Given the description of an element on the screen output the (x, y) to click on. 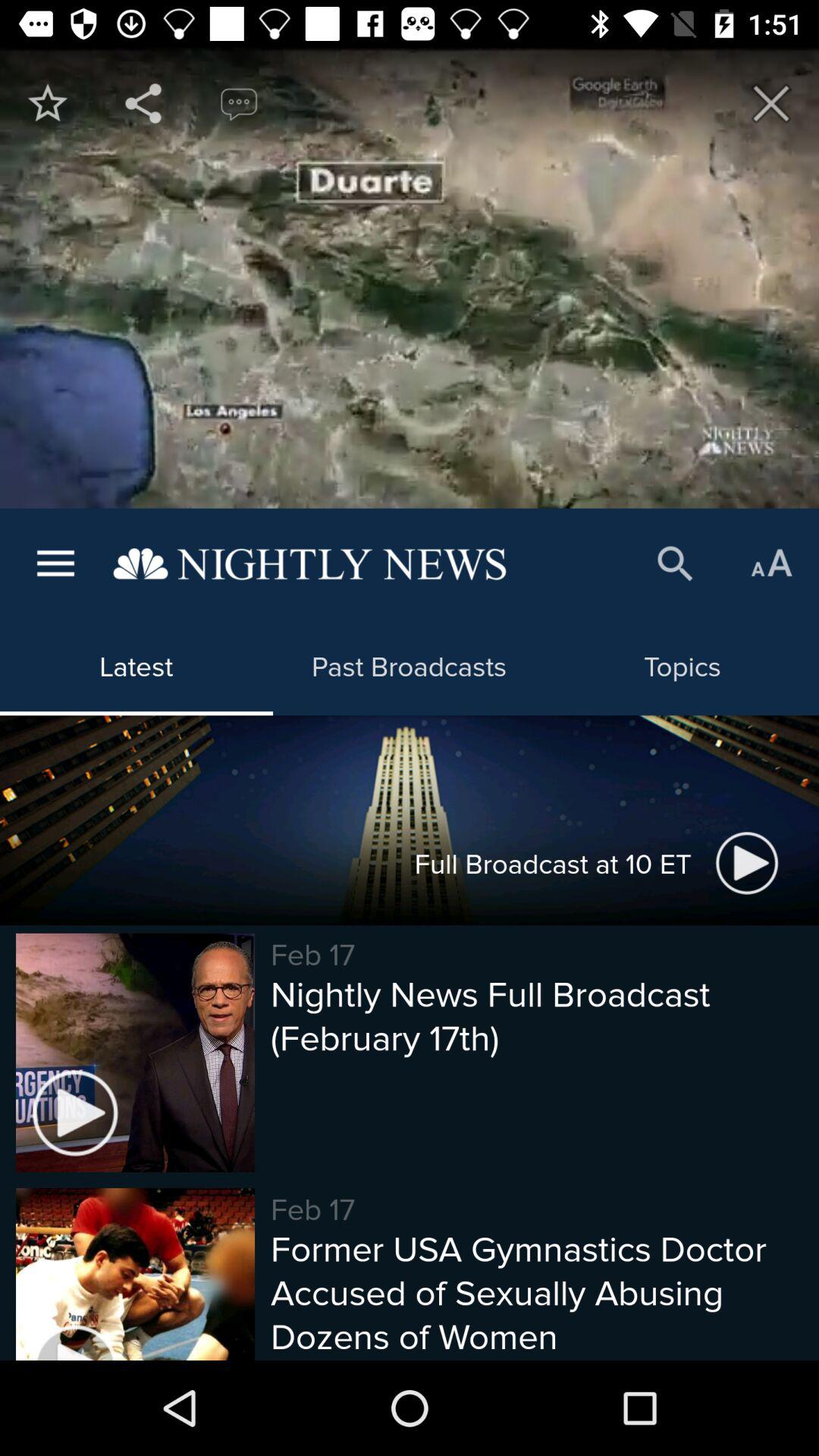
press the icon above topics item (675, 563)
